Given the description of an element on the screen output the (x, y) to click on. 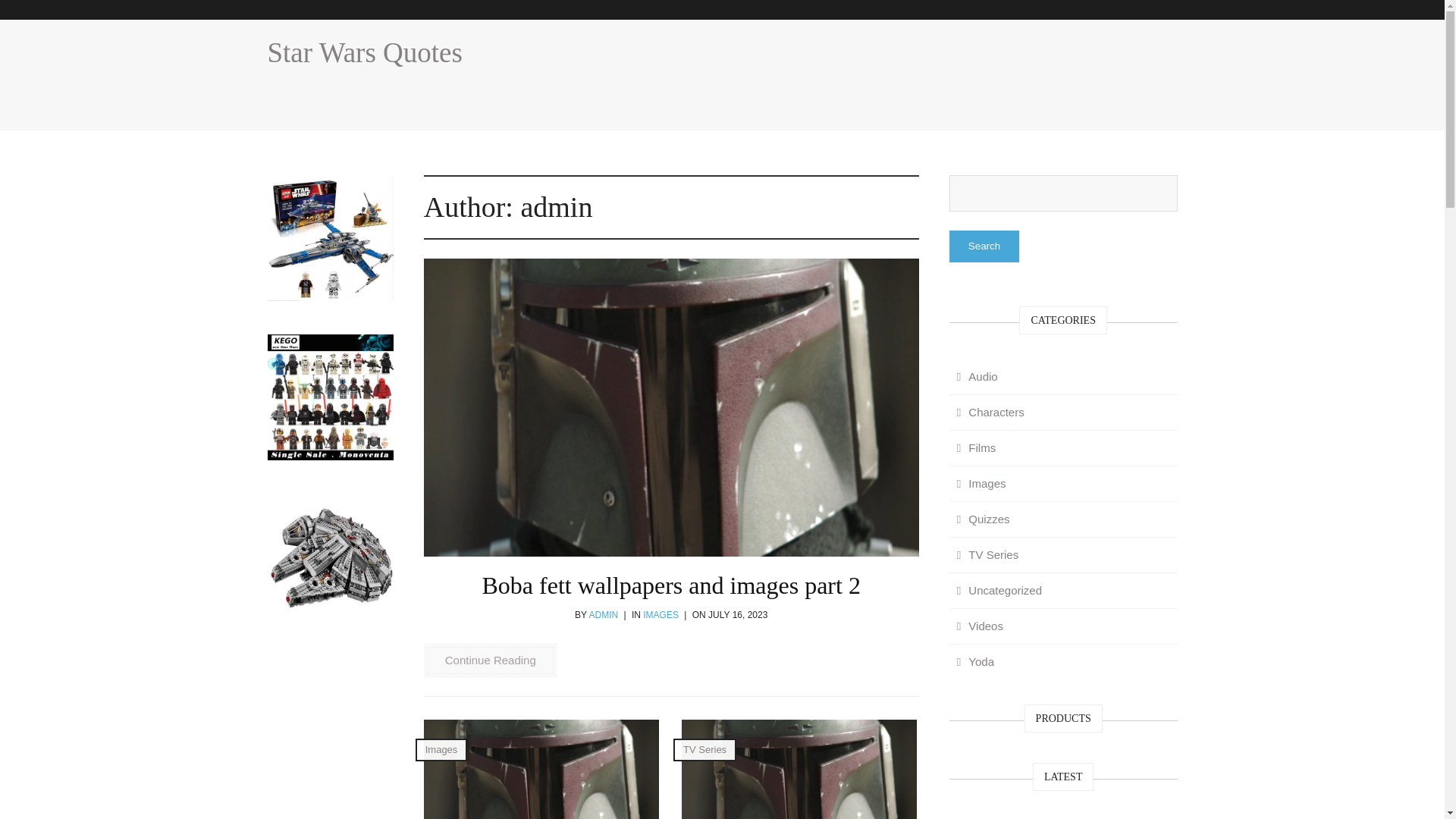
IMAGES (660, 614)
Posts by admin (602, 614)
Star Wars Quotes (363, 51)
Boba fett wallpapers and images part 2 (670, 584)
Continue Reading (490, 660)
Images (441, 749)
ADMIN (602, 614)
Star Wars Quotes (363, 51)
Book Of Boba Fett quotes (799, 769)
Advertisement (900, 69)
